Given the description of an element on the screen output the (x, y) to click on. 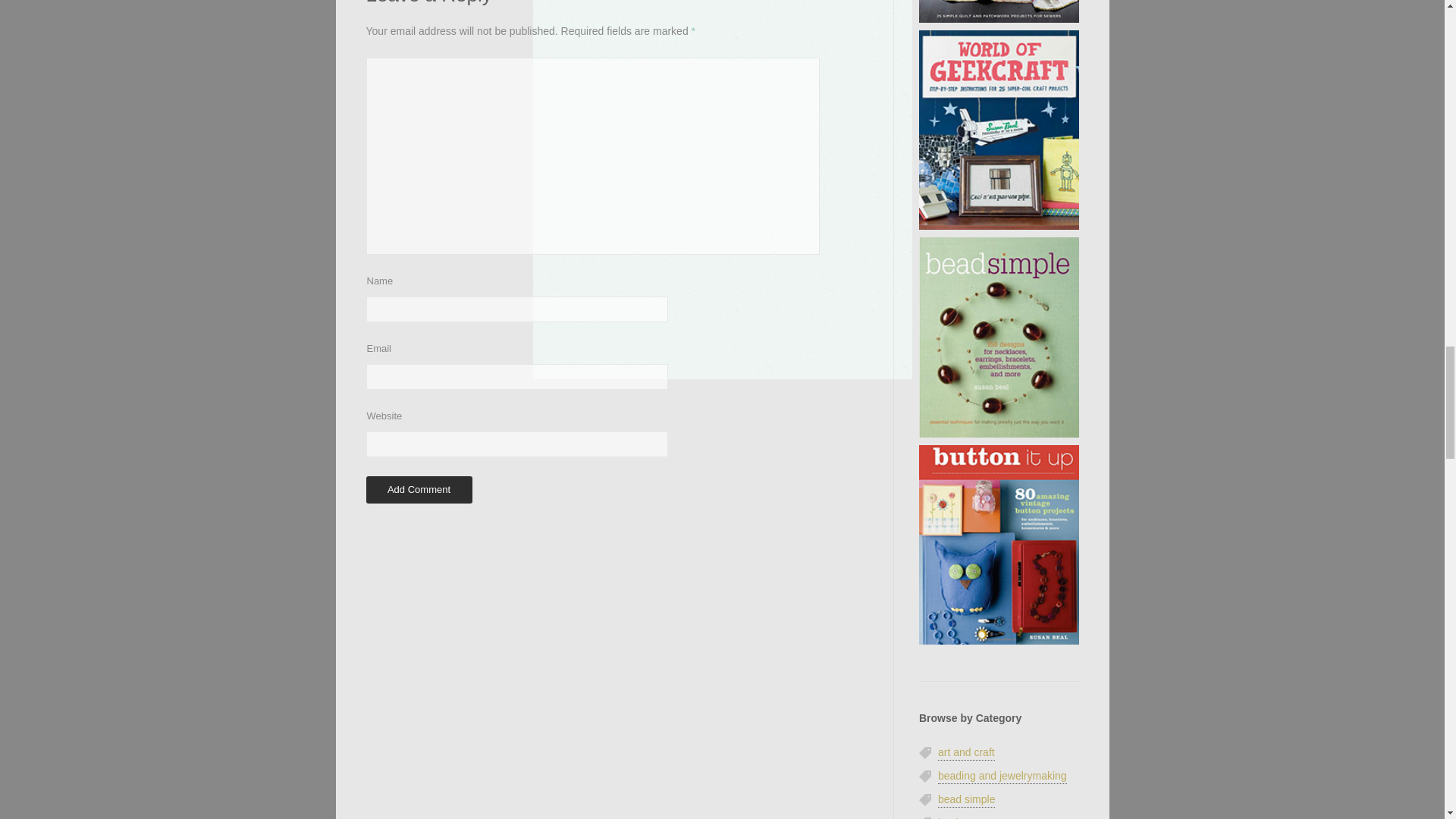
Add Comment (418, 489)
